Given the description of an element on the screen output the (x, y) to click on. 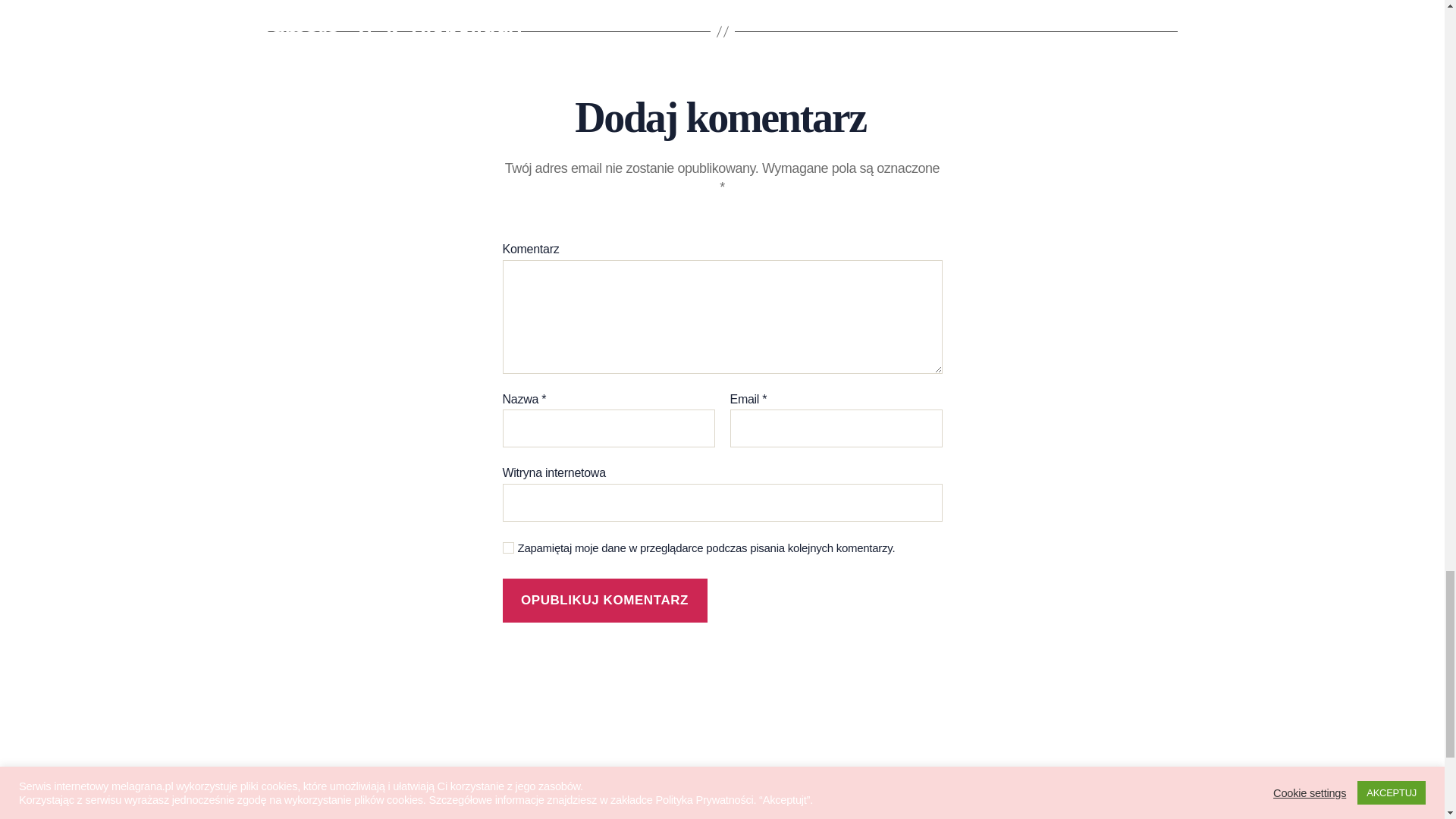
o nas (285, 743)
co robimy (300, 796)
yes (507, 547)
moja historia (310, 770)
Opublikuj komentarz (604, 600)
Opublikuj komentarz (604, 600)
